Given the description of an element on the screen output the (x, y) to click on. 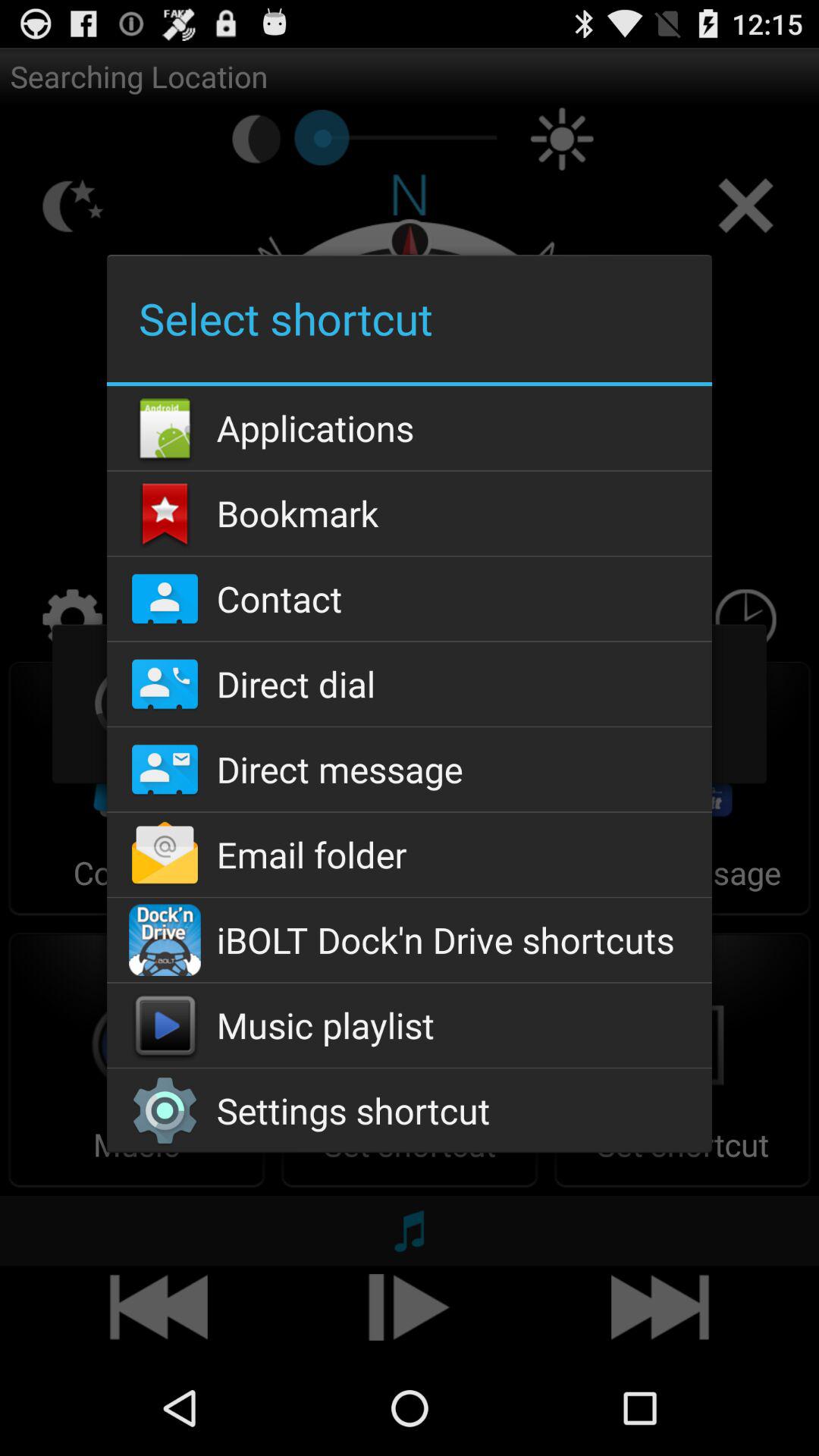
flip until direct message icon (409, 769)
